Given the description of an element on the screen output the (x, y) to click on. 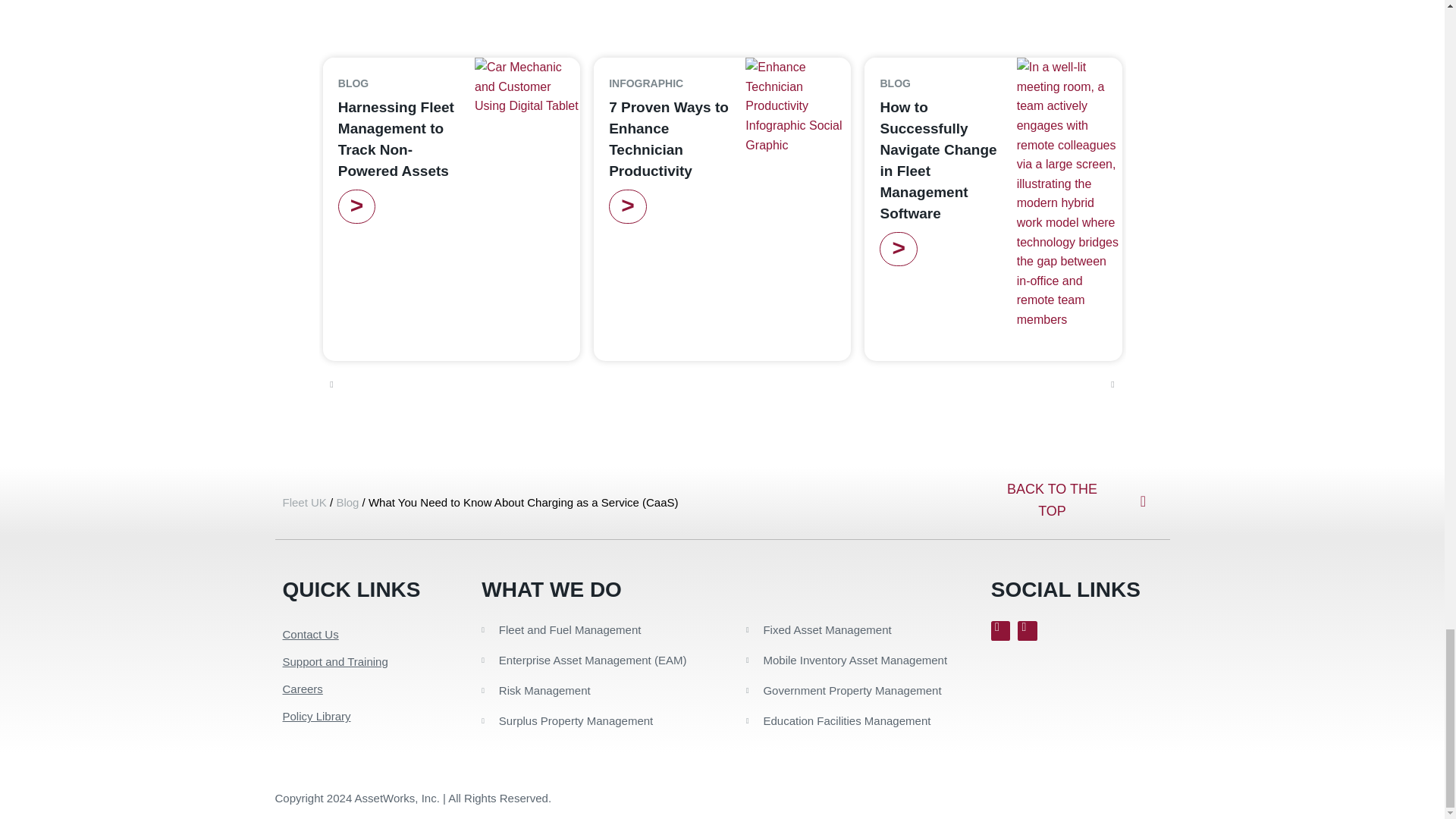
BACK TO THE TOP (1051, 500)
next item (1112, 384)
BACK TO THE TOP (1051, 500)
BACK TO THE TOP (1051, 501)
BACK TO THE TOP (1051, 500)
previous item (331, 384)
